Given the description of an element on the screen output the (x, y) to click on. 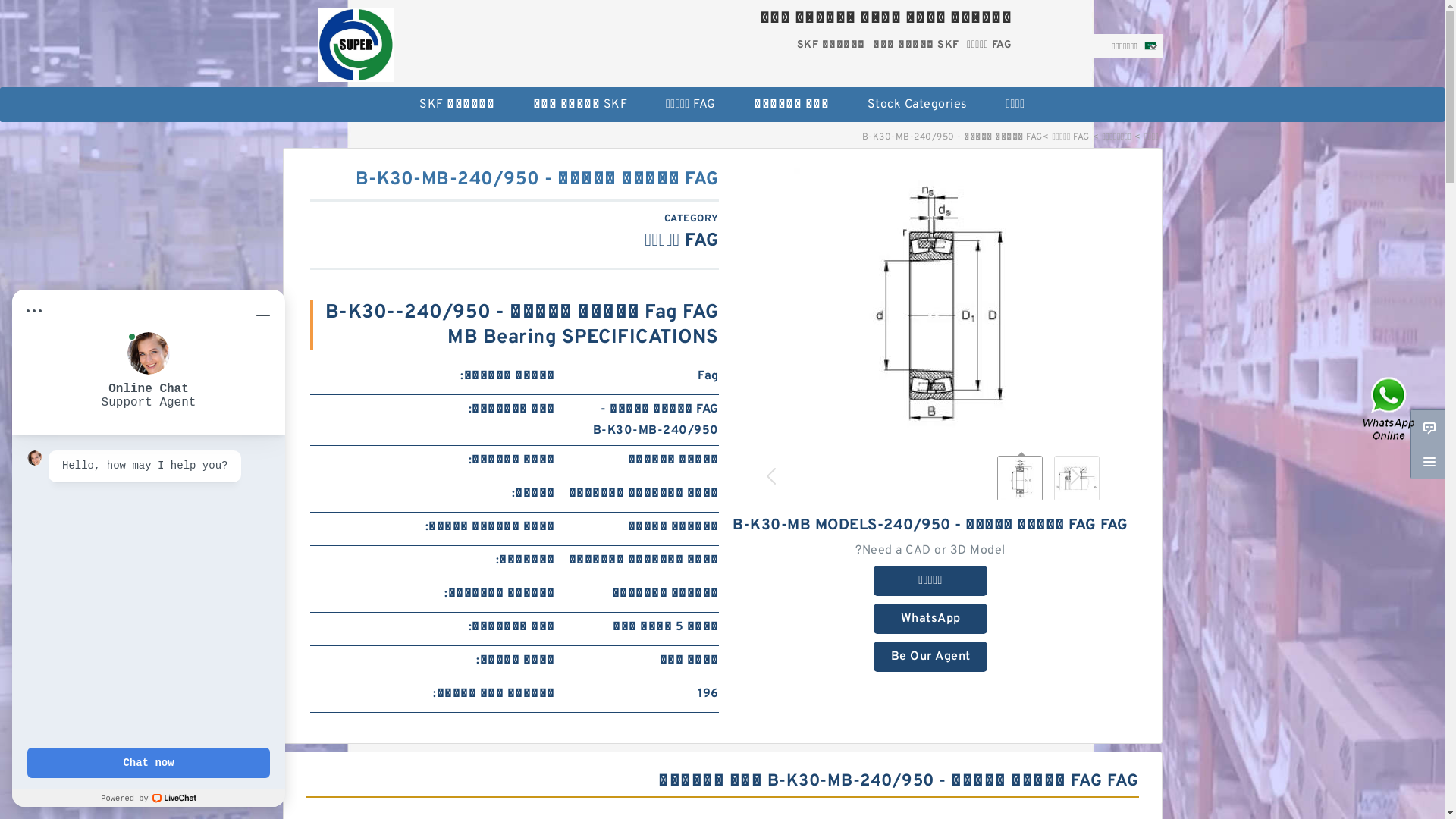
Be Our Agent Element type: text (930, 656)
Browse by Category Element type: hover (1429, 461)
Send Inquiry Element type: hover (1429, 426)
WhatsApp Element type: text (930, 618)
Stock Categories Element type: text (917, 104)
Contact Us Element type: hover (1389, 409)
